Given the description of an element on the screen output the (x, y) to click on. 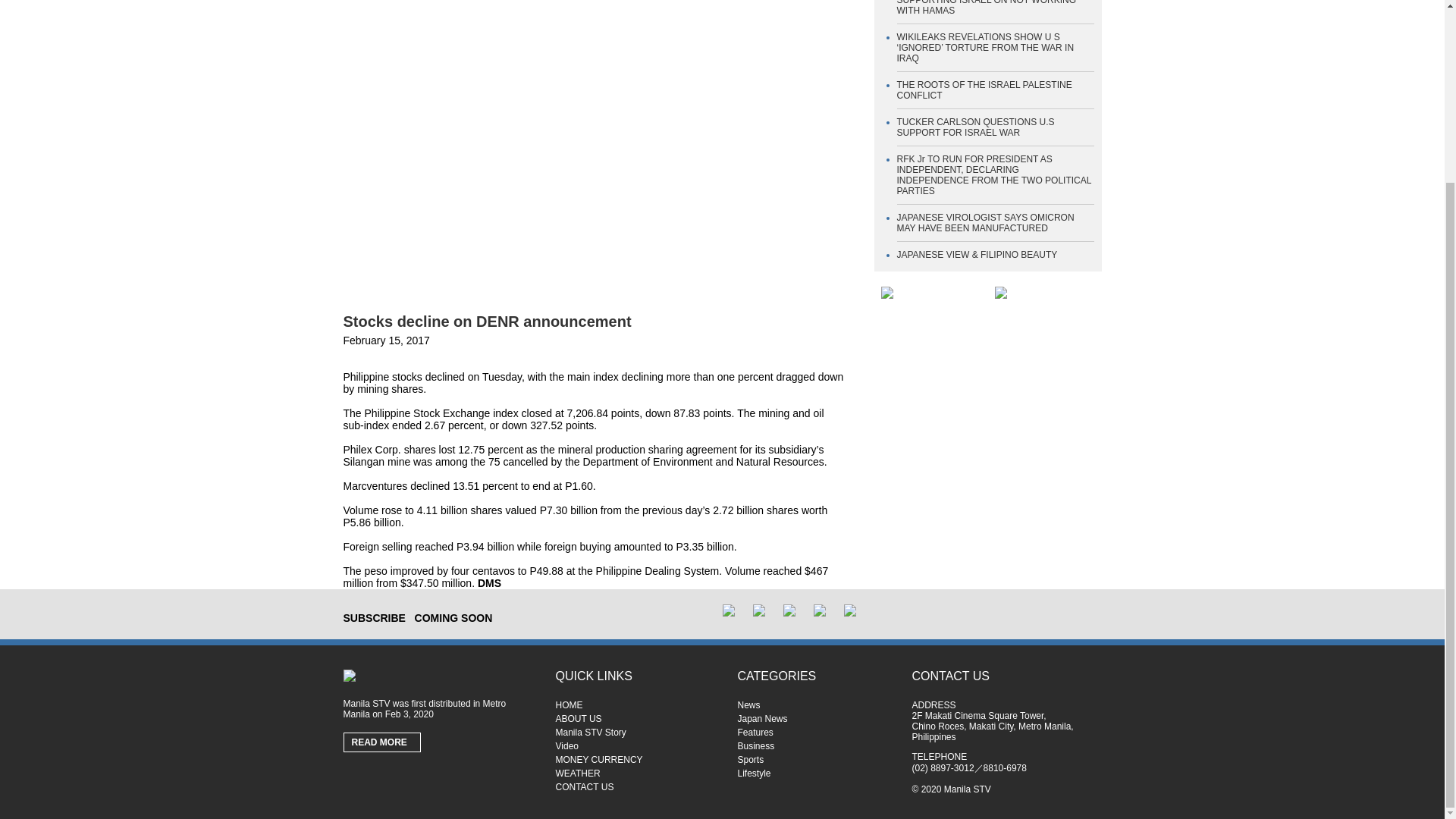
JAPANESE VIROLOGIST SAYS OMICRON MAY HAVE BEEN MANUFACTURED (985, 222)
Video (634, 746)
News (816, 705)
WEATHER (634, 773)
CONTACT US (634, 787)
READ MORE (382, 742)
Japan News (816, 718)
TUCKER CARLSON QUESTIONS U.S SUPPORT FOR ISRAEL WAR (975, 127)
THE ROOTS OF THE ISRAEL PALESTINE CONFLICT (983, 89)
MONEY CURRENCY (634, 759)
ABOUT US (634, 718)
Stocks decline on DENR announcement (486, 321)
HOME (634, 705)
